Given the description of an element on the screen output the (x, y) to click on. 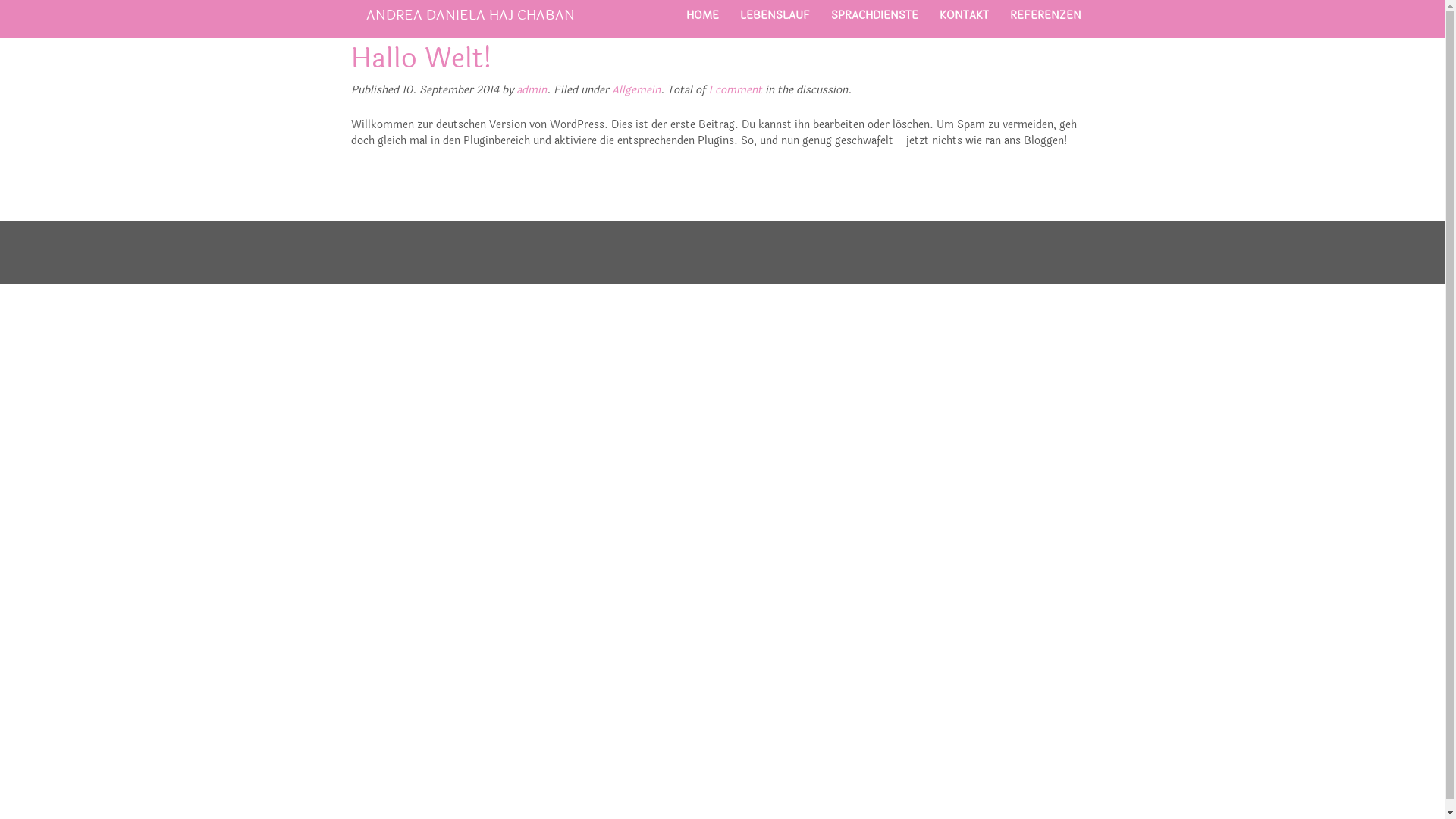
HOME Element type: text (701, 15)
KONTAKT Element type: text (963, 15)
1 comment Element type: text (735, 89)
admin Element type: text (530, 89)
ANDREA DANIELA HAJ CHABAN Element type: text (474, 15)
REFERENZEN Element type: text (1045, 15)
LEBENSLAUF Element type: text (775, 15)
Allgemein Element type: text (635, 89)
Hallo Welt! Element type: text (420, 58)
SPRACHDIENSTE Element type: text (874, 15)
